Given the description of an element on the screen output the (x, y) to click on. 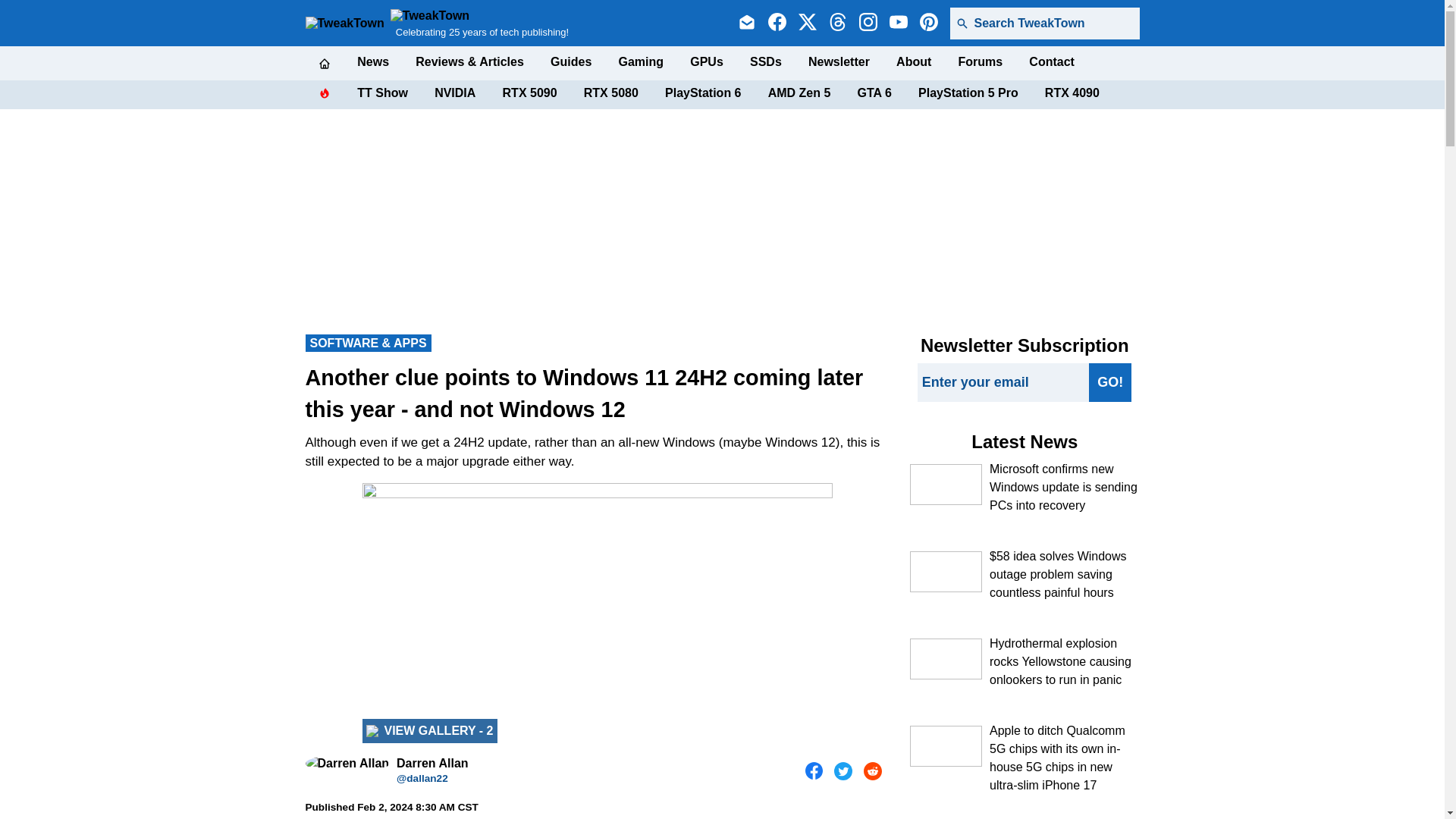
GO! (1110, 382)
Follow us on X (806, 23)
Follow us on Threads (836, 23)
Share on Twitter (842, 771)
Sign up to the TweakTown newsletter (745, 23)
Subscribe to us on YouTube (897, 23)
Share on Reddit (871, 771)
Share on Facebook (814, 771)
Follow us on Instagram (867, 23)
Celebrating 25 years of tech publishing! (479, 22)
Open Gallery (429, 730)
Follow us on Pinterest (927, 23)
News (372, 61)
